Given the description of an element on the screen output the (x, y) to click on. 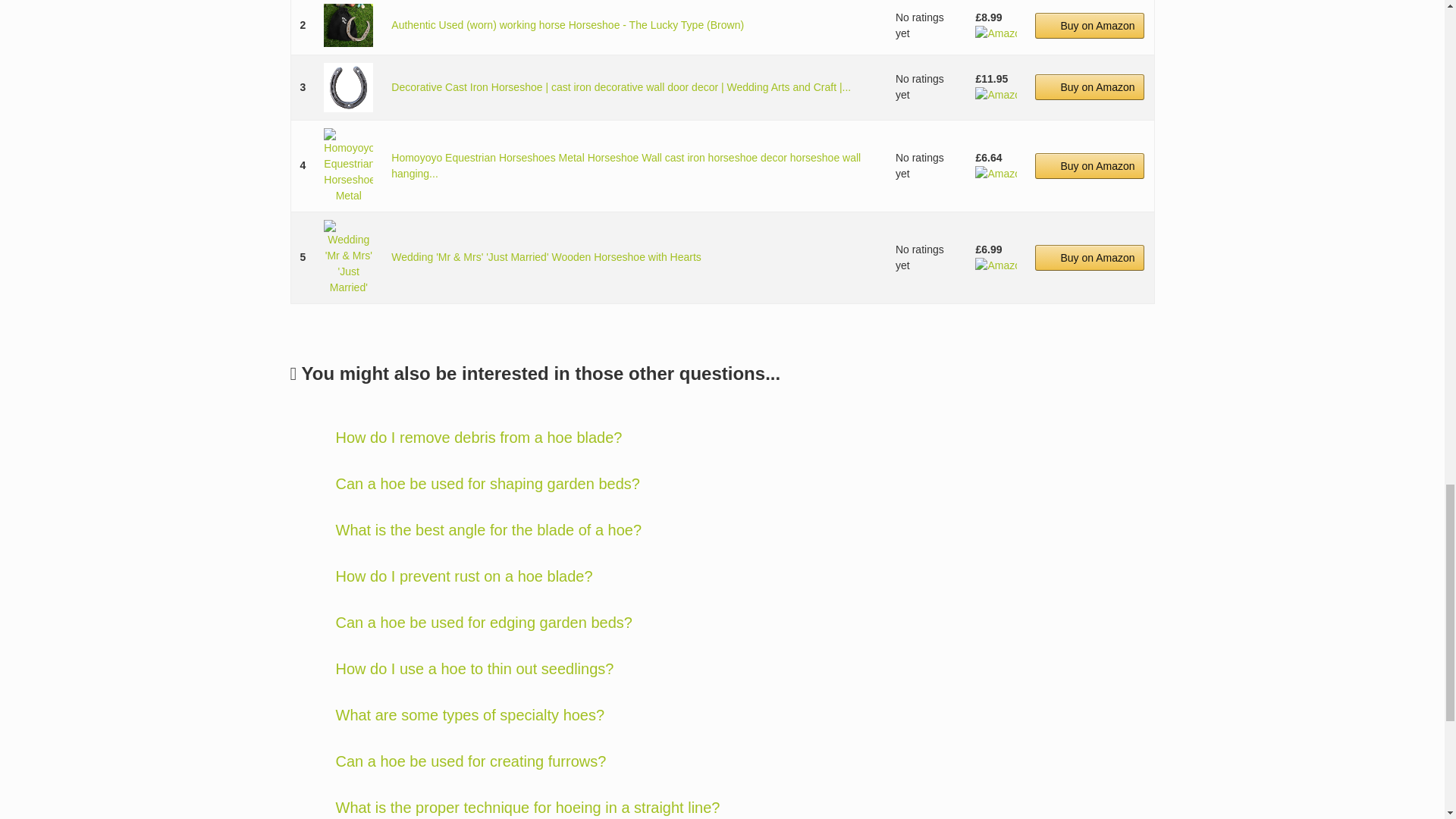
Buy on Amazon (1089, 86)
Amazon Prime (995, 94)
Amazon Prime (995, 33)
Amazon Prime (995, 173)
Buy on Amazon (1089, 25)
Buy on Amazon (1089, 166)
